Given the description of an element on the screen output the (x, y) to click on. 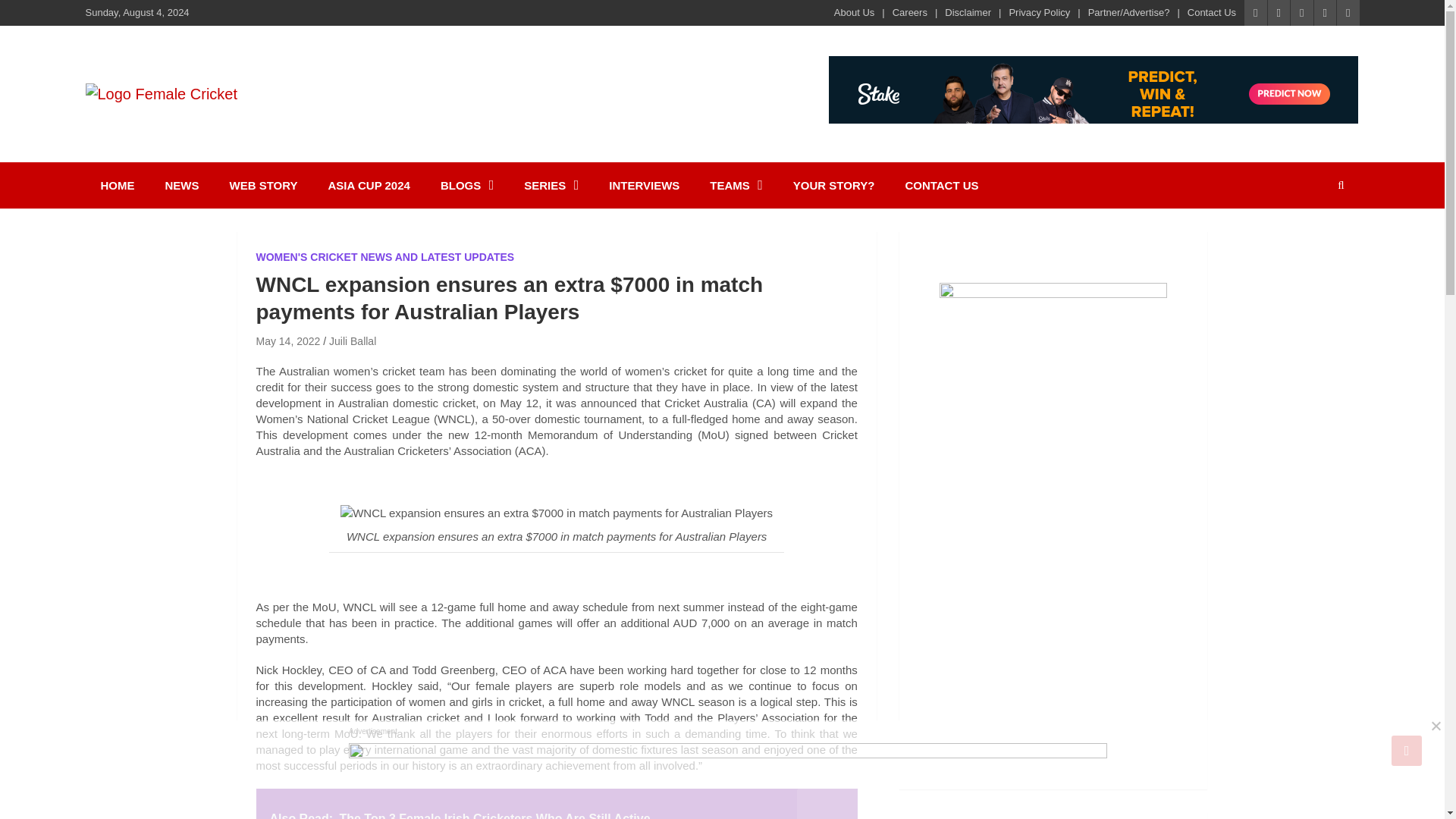
Female Cricket (192, 123)
Privacy Policy (1039, 12)
About Us (854, 12)
Disclaimer (967, 12)
HOME (116, 185)
Contact Us (1212, 12)
WEB STORY (263, 185)
Careers (909, 12)
ASIA CUP 2024 (369, 185)
NEWS (181, 185)
BLOGS (466, 185)
SERIES (551, 185)
